Given the description of an element on the screen output the (x, y) to click on. 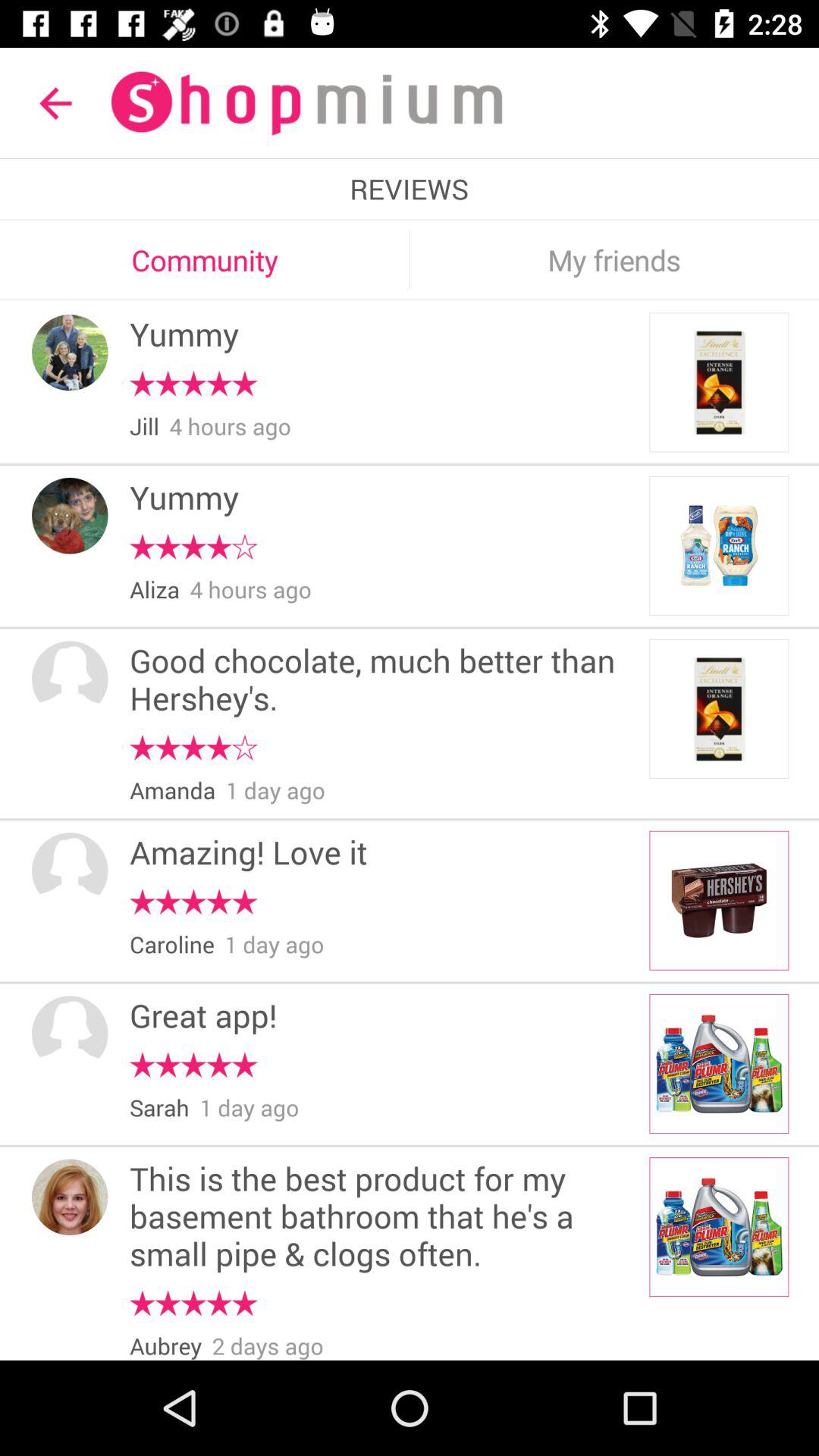
select item above the good chocolate much (154, 590)
